Given the description of an element on the screen output the (x, y) to click on. 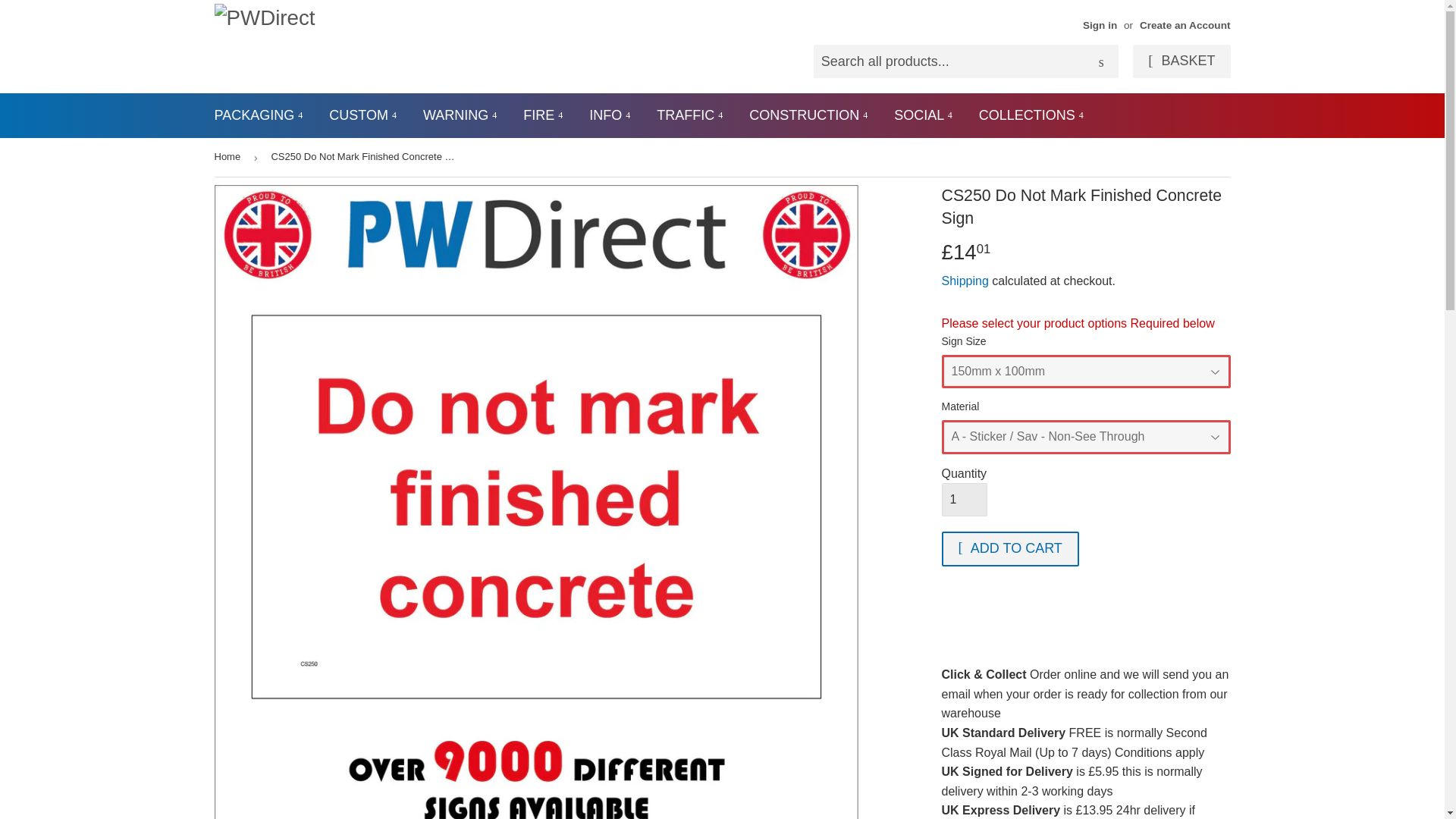
BASKET (1181, 61)
Create an Account (1185, 25)
Search (1101, 61)
Sign in (1099, 25)
1 (964, 499)
